Given the description of an element on the screen output the (x, y) to click on. 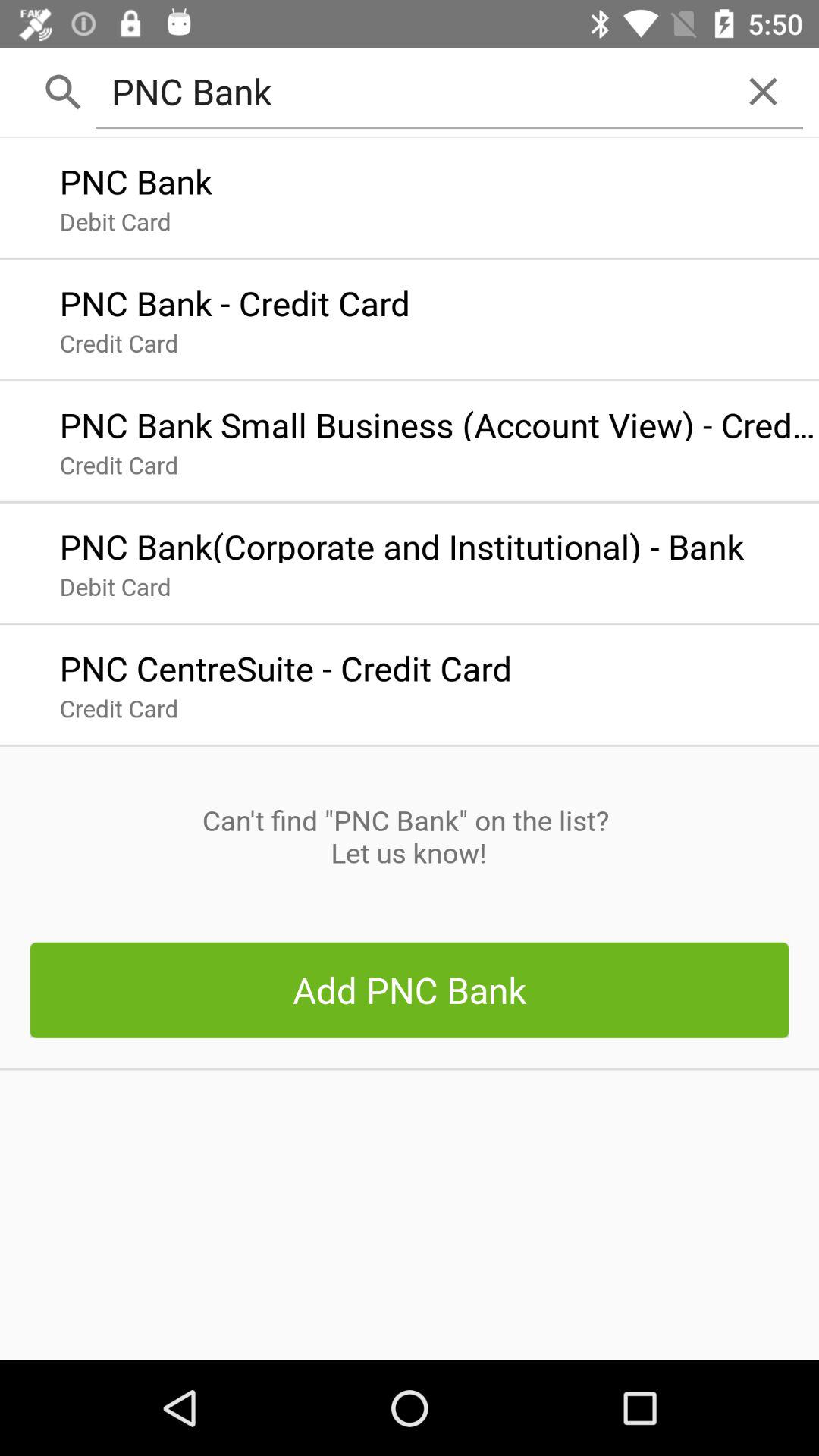
jump to the can t find item (408, 836)
